Given the description of an element on the screen output the (x, y) to click on. 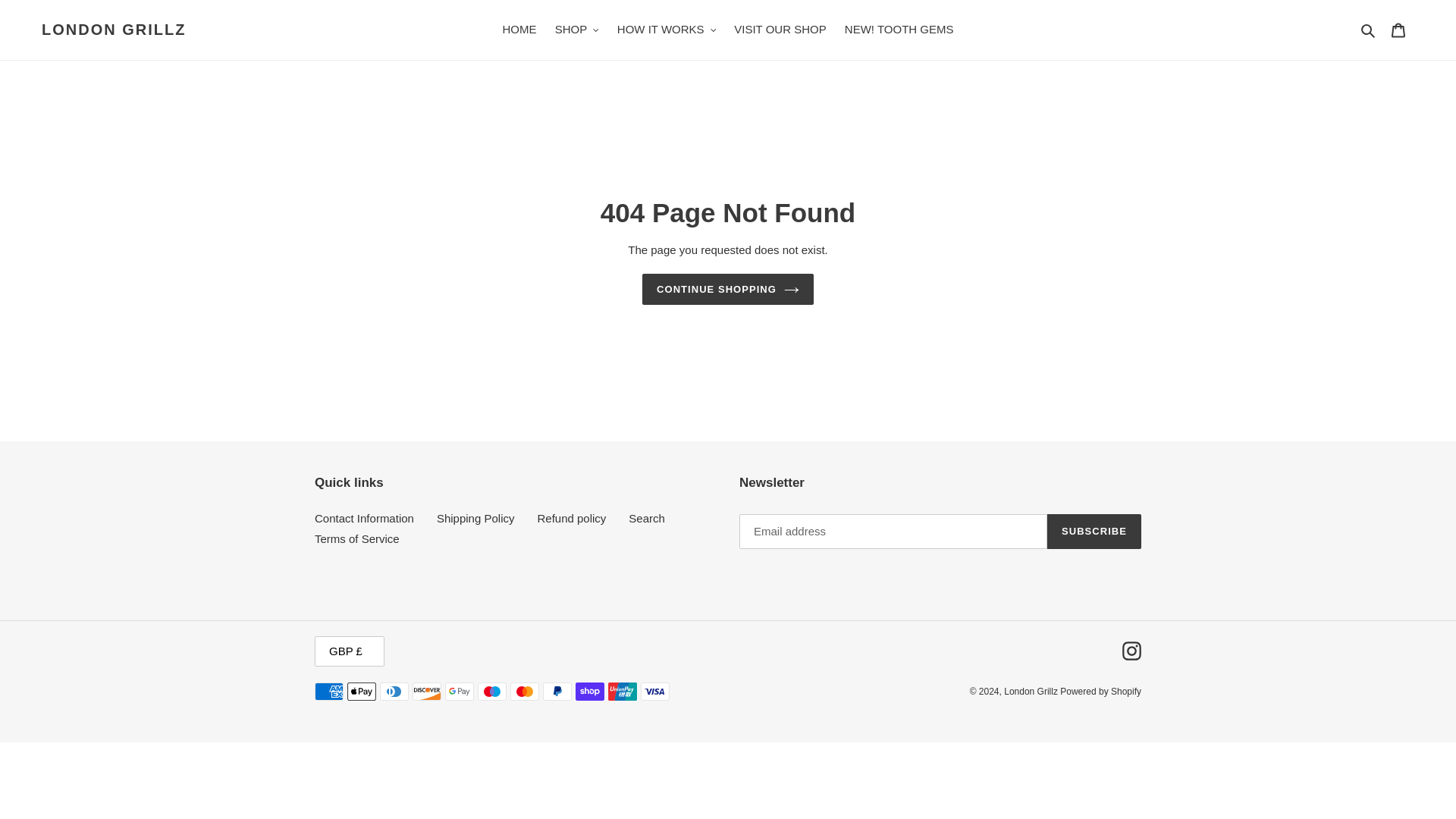
HOW IT WORKS (666, 29)
LONDON GRILLZ (114, 29)
Cart (1397, 29)
VISIT OUR SHOP (779, 29)
HOME (519, 29)
NEW! TOOTH GEMS (898, 29)
Search (1368, 29)
SHOP (577, 29)
